Given the description of an element on the screen output the (x, y) to click on. 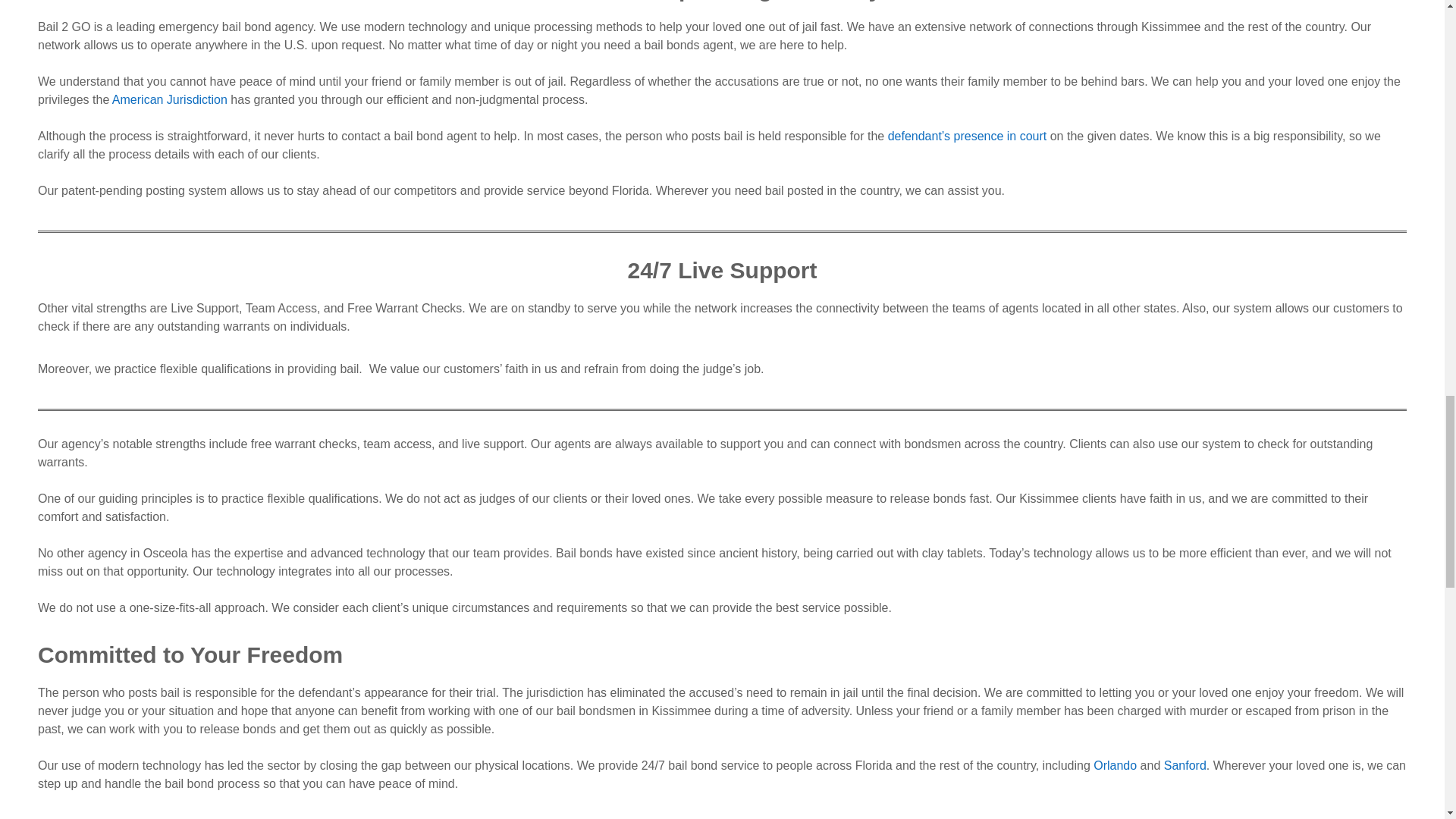
American Jurisdiction (169, 99)
Sanford (1185, 765)
Orlando (1115, 765)
